Given the description of an element on the screen output the (x, y) to click on. 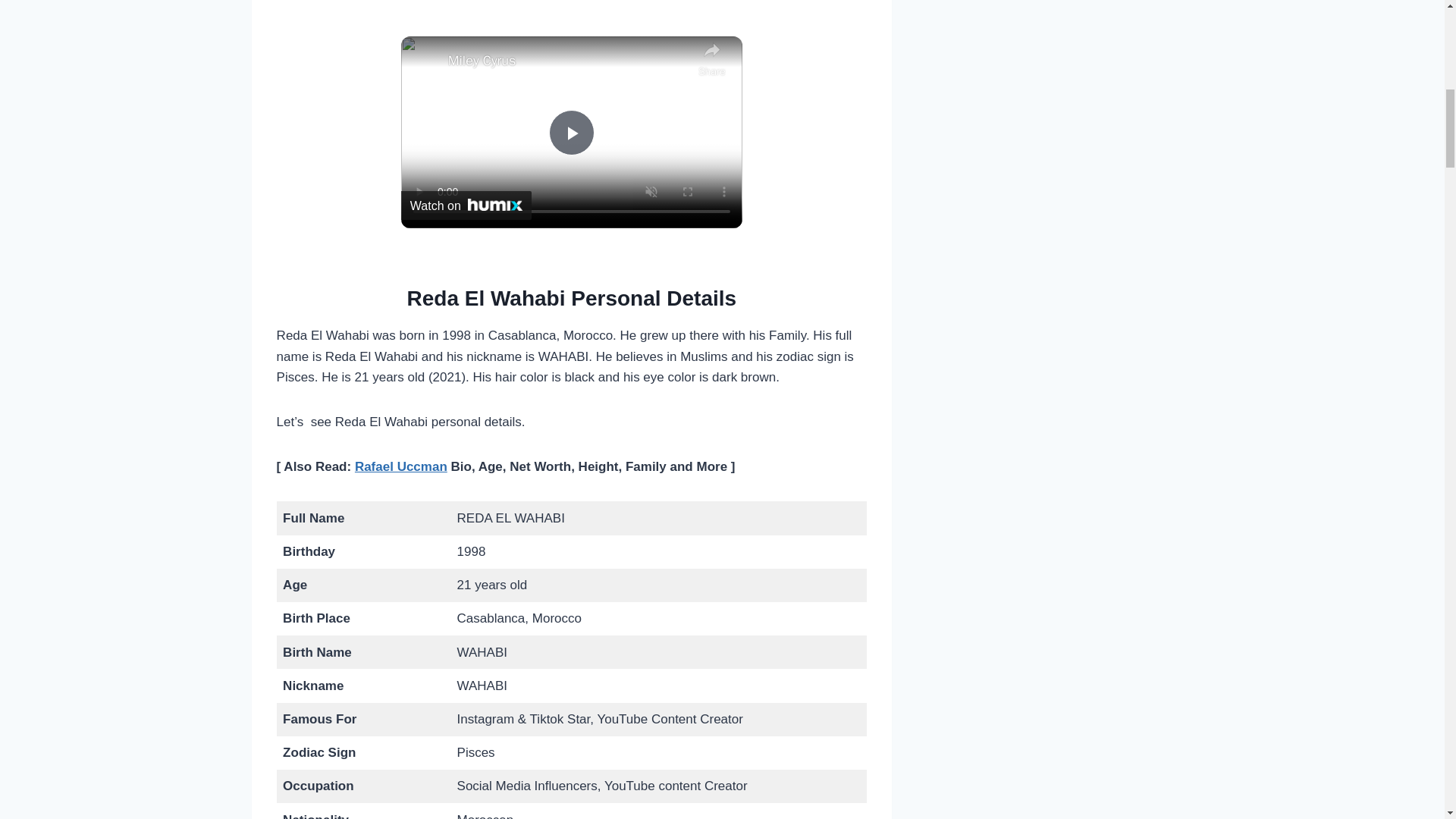
Miley Cyrus (569, 60)
Play Video (571, 132)
Rafael Uccman (400, 466)
Play Video (571, 132)
Watch on (466, 205)
